Given the description of an element on the screen output the (x, y) to click on. 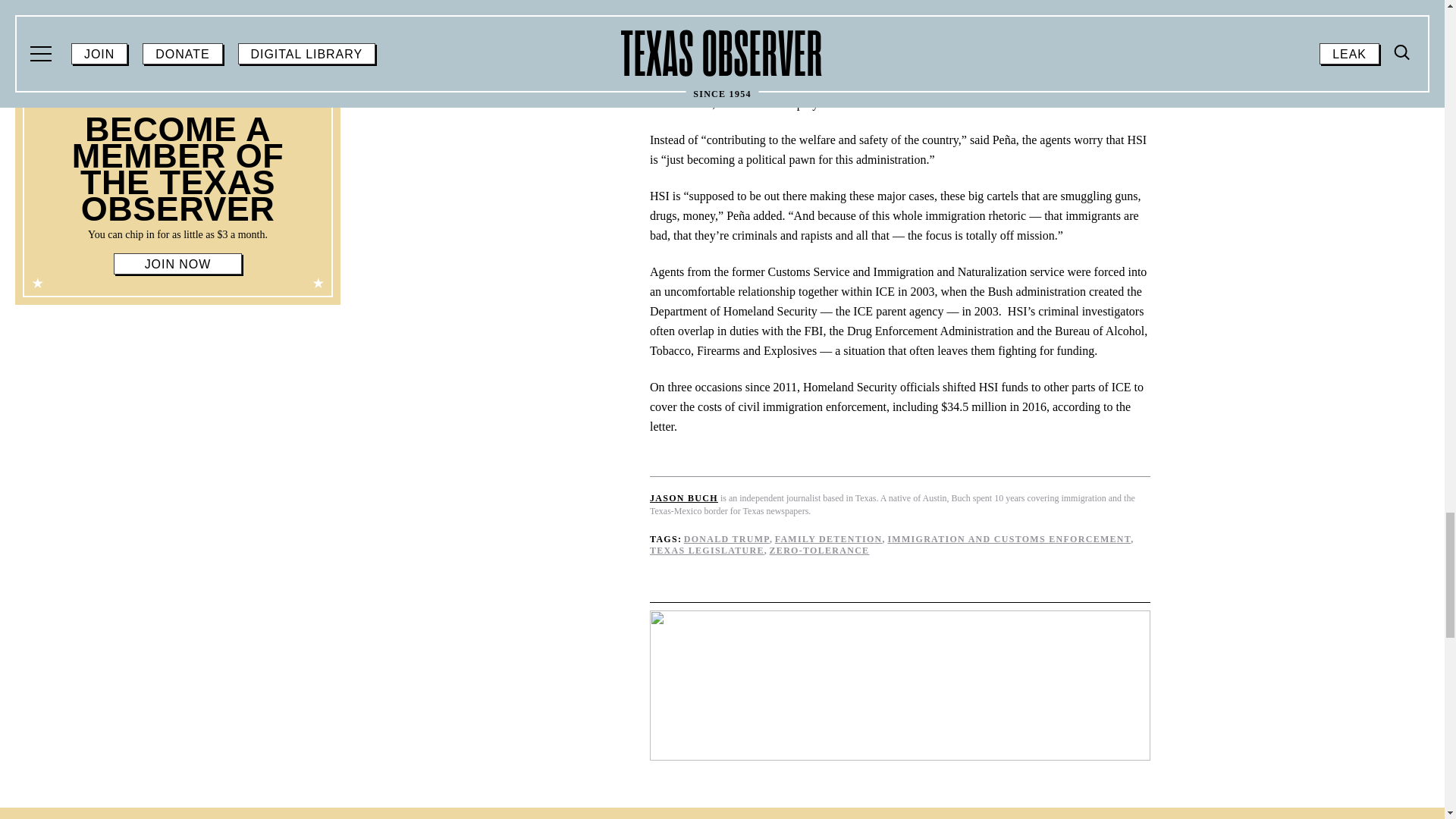
Posts by Jason Buch (683, 498)
